Given the description of an element on the screen output the (x, y) to click on. 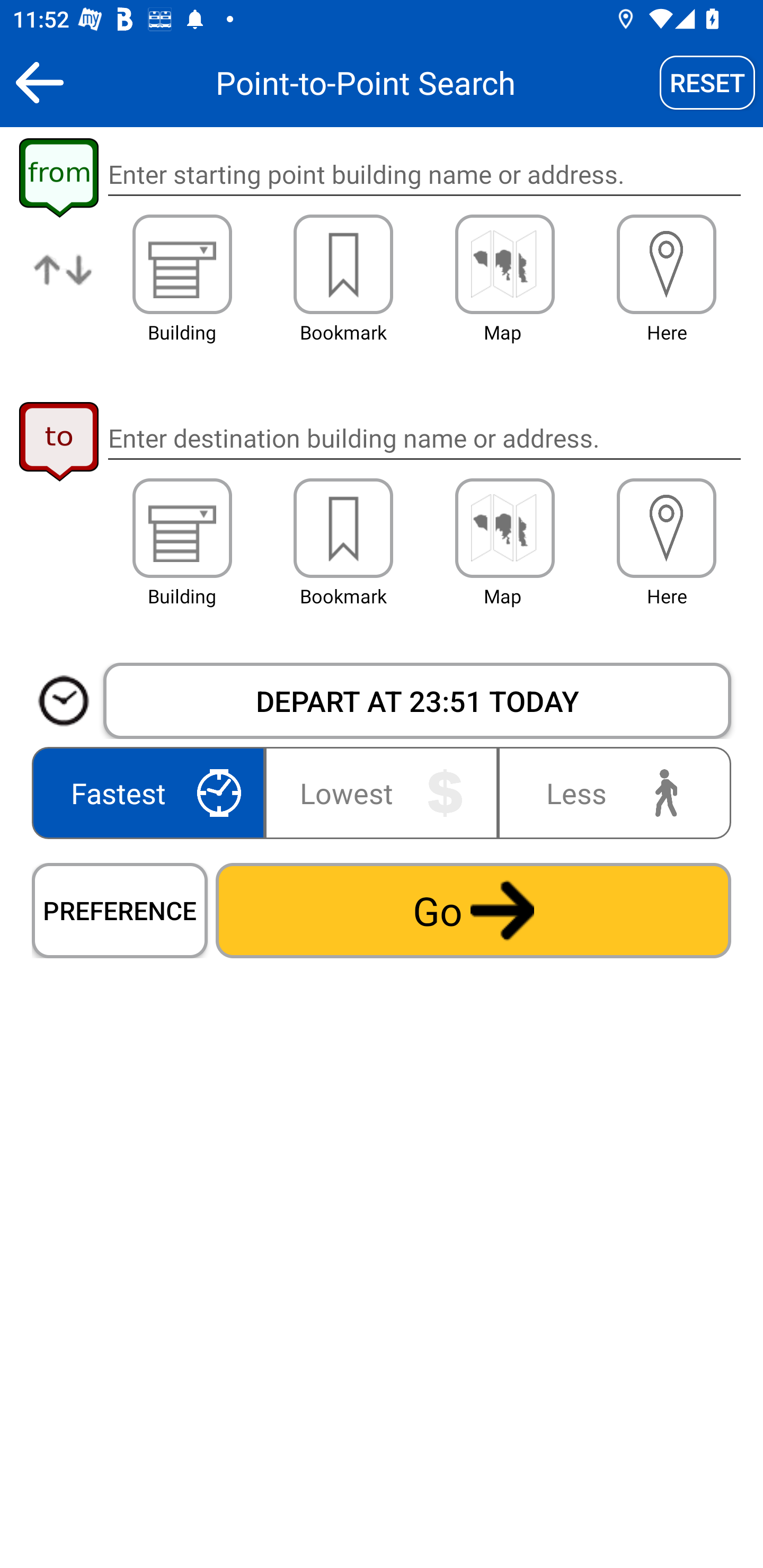
Back (39, 82)
RESET Reset (707, 81)
Enter starting point building name or address. (423, 174)
Building (181, 263)
Bookmarks (342, 263)
Select location on map (504, 263)
Here (666, 263)
Swap origin and destination (63, 284)
Enter destination building name or address. (423, 437)
Building (181, 528)
Bookmarks (342, 528)
Select location on map (504, 528)
Here (666, 528)
Lowest (381, 792)
Fastest selected (151, 792)
Less (610, 792)
PREFERENCE Preference (119, 910)
Go (472, 910)
